Given the description of an element on the screen output the (x, y) to click on. 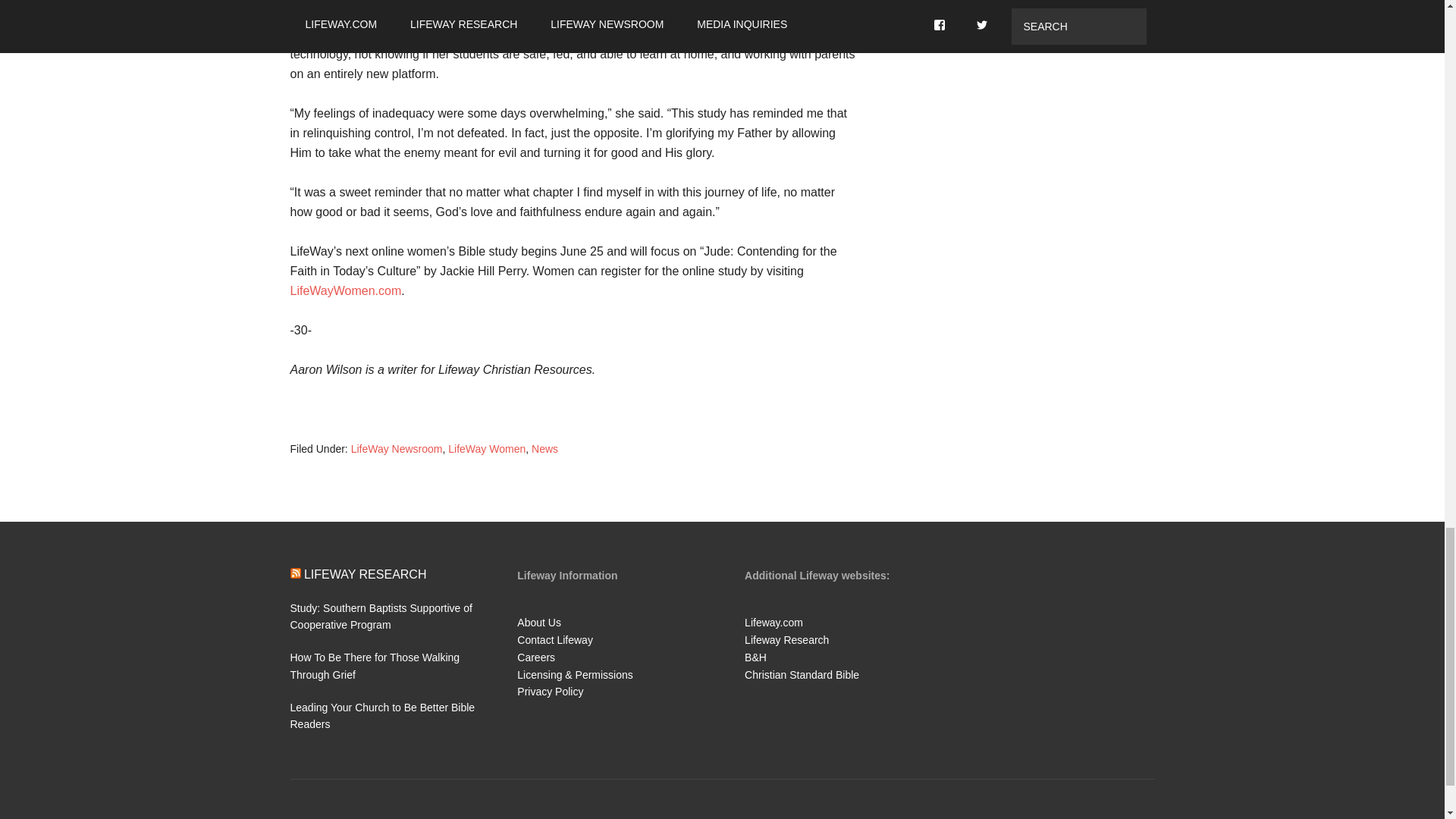
Christian Standard Bible (801, 674)
LifeWay Newsroom (396, 449)
Privacy Policy (549, 691)
LifeWayWomen.com (345, 290)
About Us (538, 622)
Leading Your Church to Be Better Bible Readers (381, 716)
How To Be There for Those Walking Through Grief (374, 665)
Careers (535, 657)
LIFEWAY RESEARCH (365, 573)
Lifeway Research (786, 639)
News (544, 449)
LifeWay Women (486, 449)
Lifeway.com (773, 622)
Contact Lifeway (554, 639)
Study: Southern Baptists Supportive of Cooperative Program (380, 616)
